Given the description of an element on the screen output the (x, y) to click on. 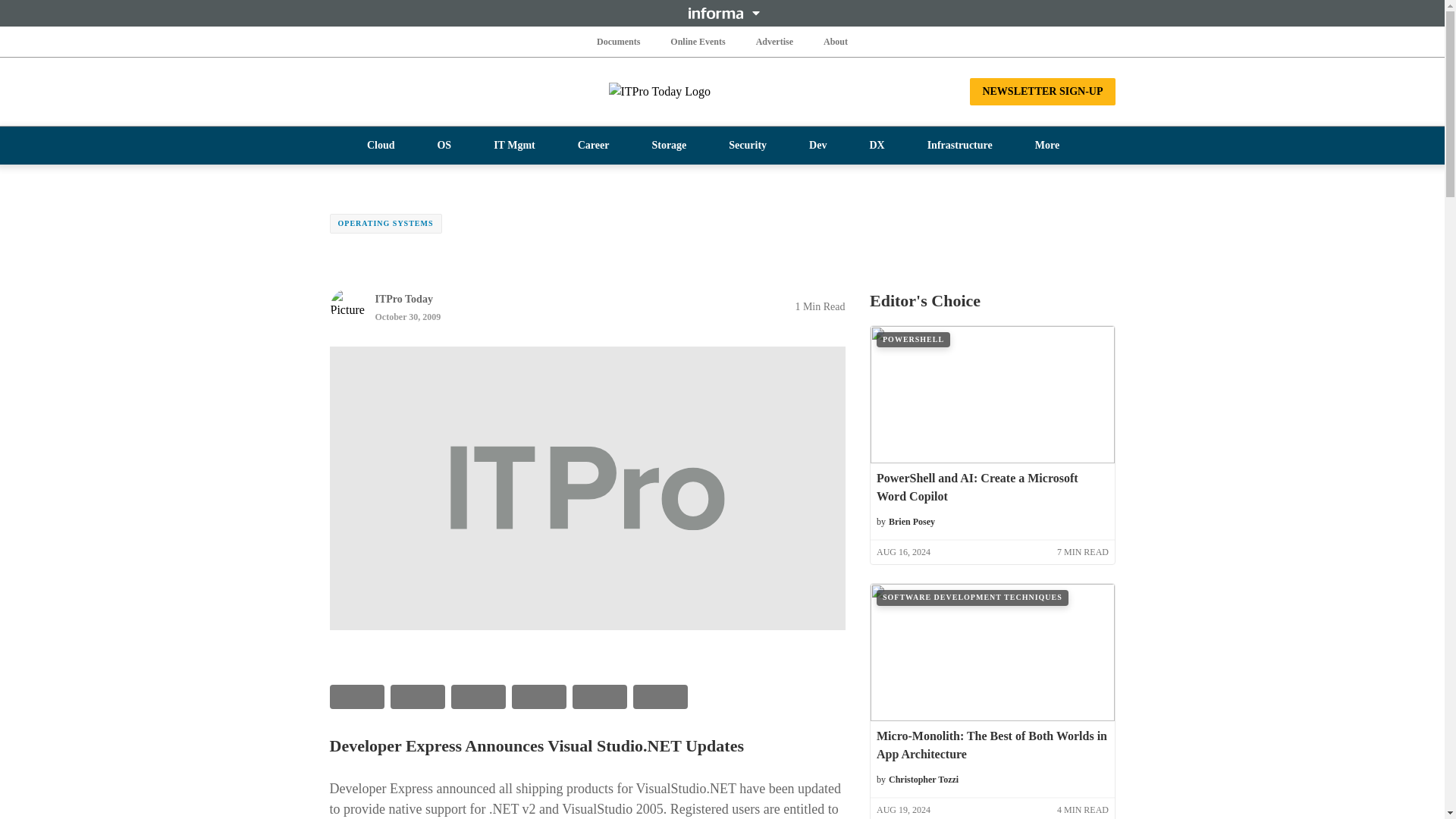
NEWSLETTER SIGN-UP (1042, 90)
Advertise (774, 41)
About (835, 41)
ITPro Today Logo (721, 91)
Documents (618, 41)
Online Events (697, 41)
